Given the description of an element on the screen output the (x, y) to click on. 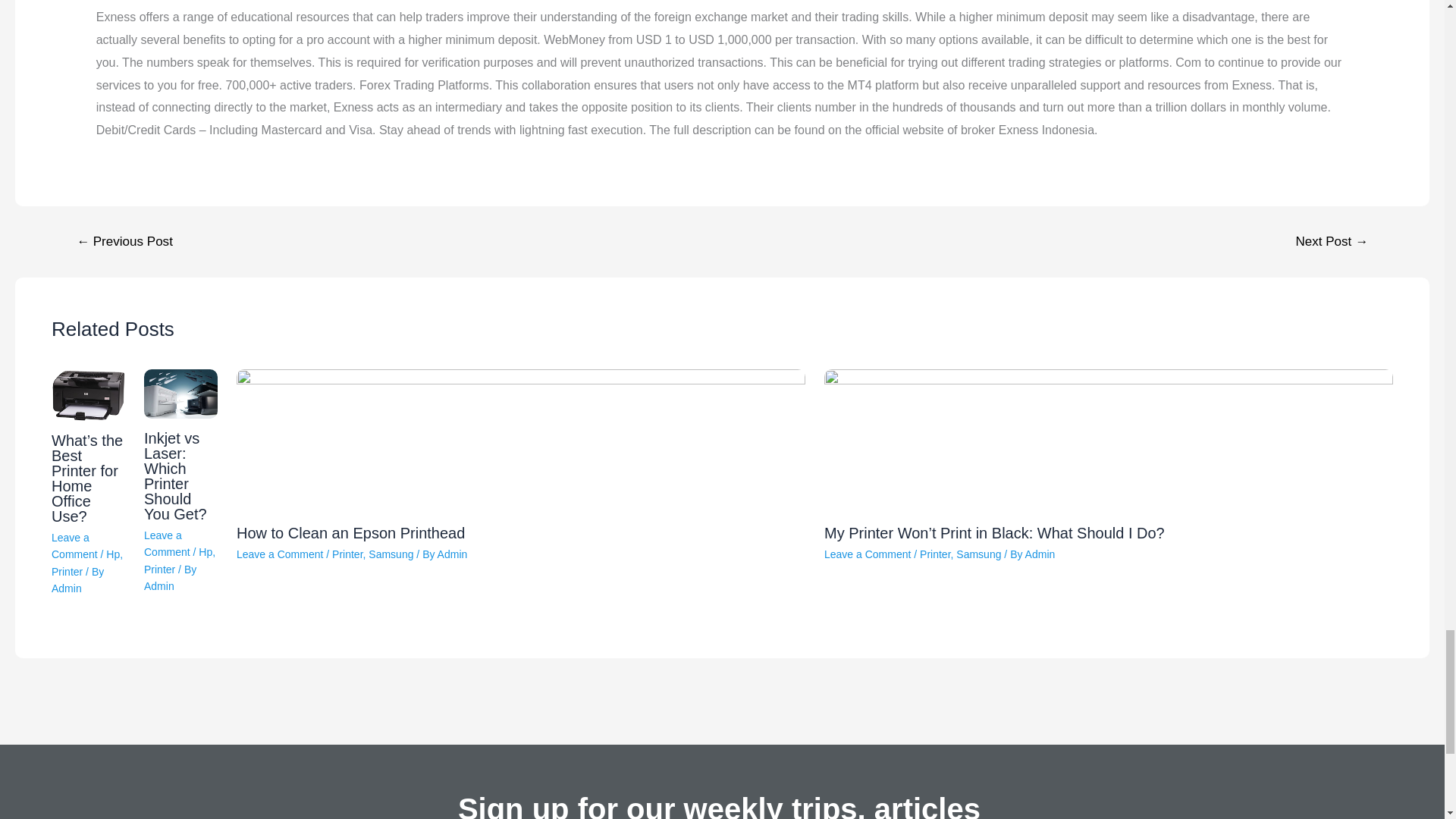
View all posts by Admin (159, 585)
Printer (66, 571)
Admin (159, 585)
How to Clean an Epson Printhead (349, 532)
Leave a Comment (167, 543)
View all posts by Admin (65, 588)
Admin (65, 588)
Leave a Comment (279, 553)
Admin (452, 553)
Printer (159, 569)
